Given the description of an element on the screen output the (x, y) to click on. 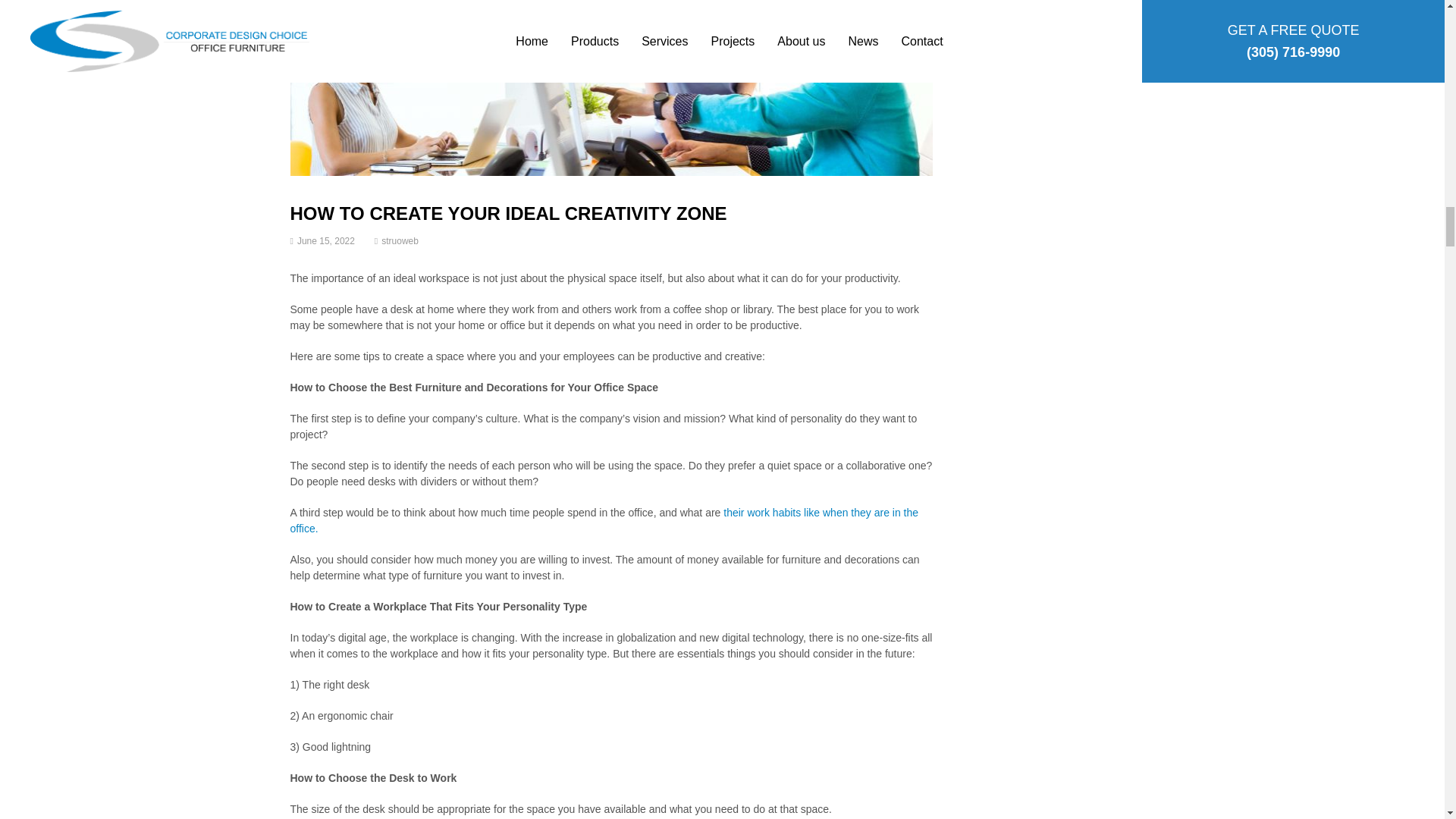
HOW TO CREATE YOUR IDEAL CREATIVITY ZONE (507, 213)
June 15, 2022 (326, 240)
